Given the description of an element on the screen output the (x, y) to click on. 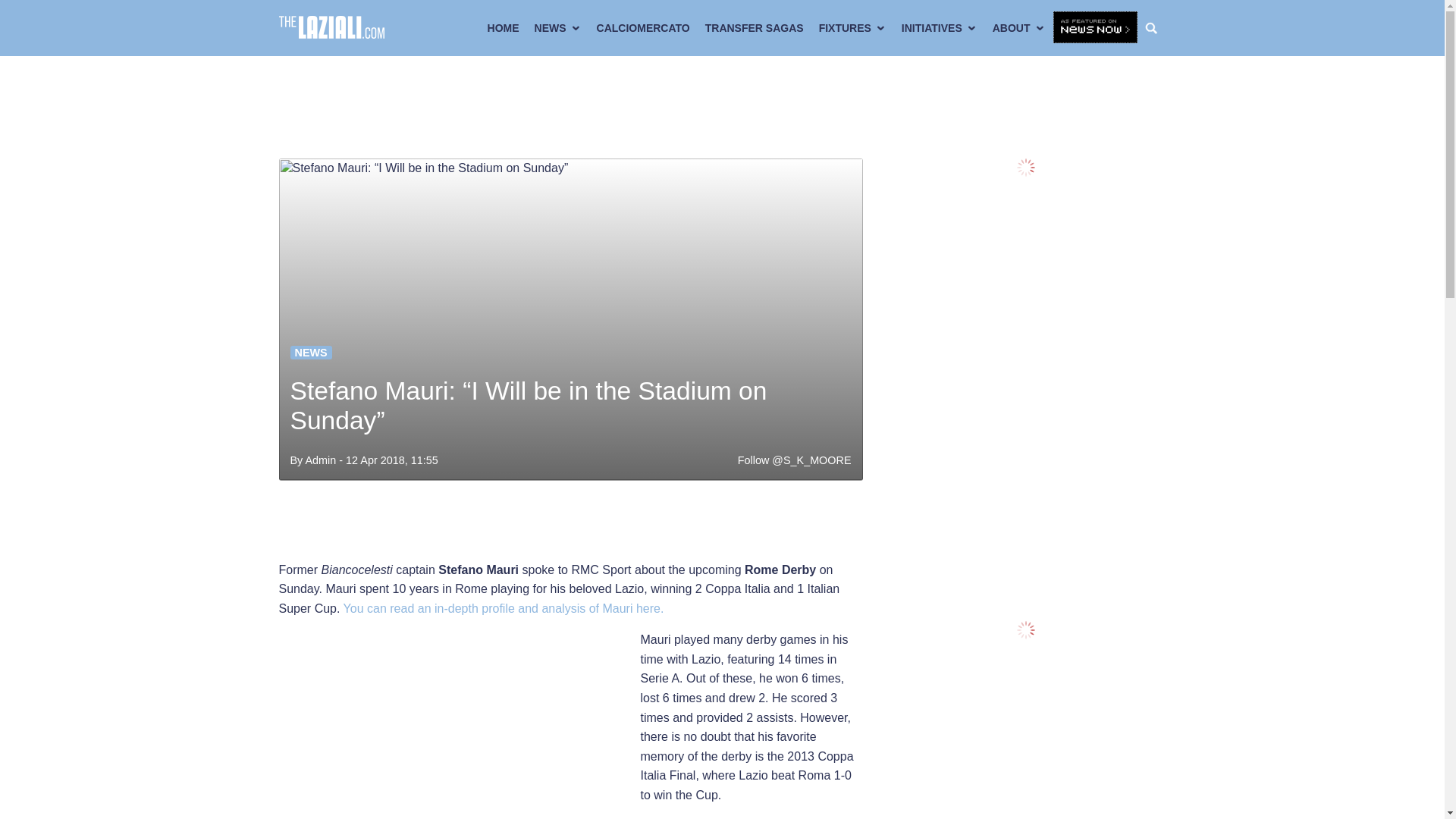
ABOUT (1018, 28)
Search (1155, 28)
Latest News News (310, 352)
CALCIOMERCATO (643, 28)
FIXTURES (851, 28)
INITIATIVES (939, 28)
Click here for more Lazio news from NewsNow (1094, 28)
NEWS (558, 28)
HOME (503, 28)
TRANSFER SAGAS (753, 28)
